Given the description of an element on the screen output the (x, y) to click on. 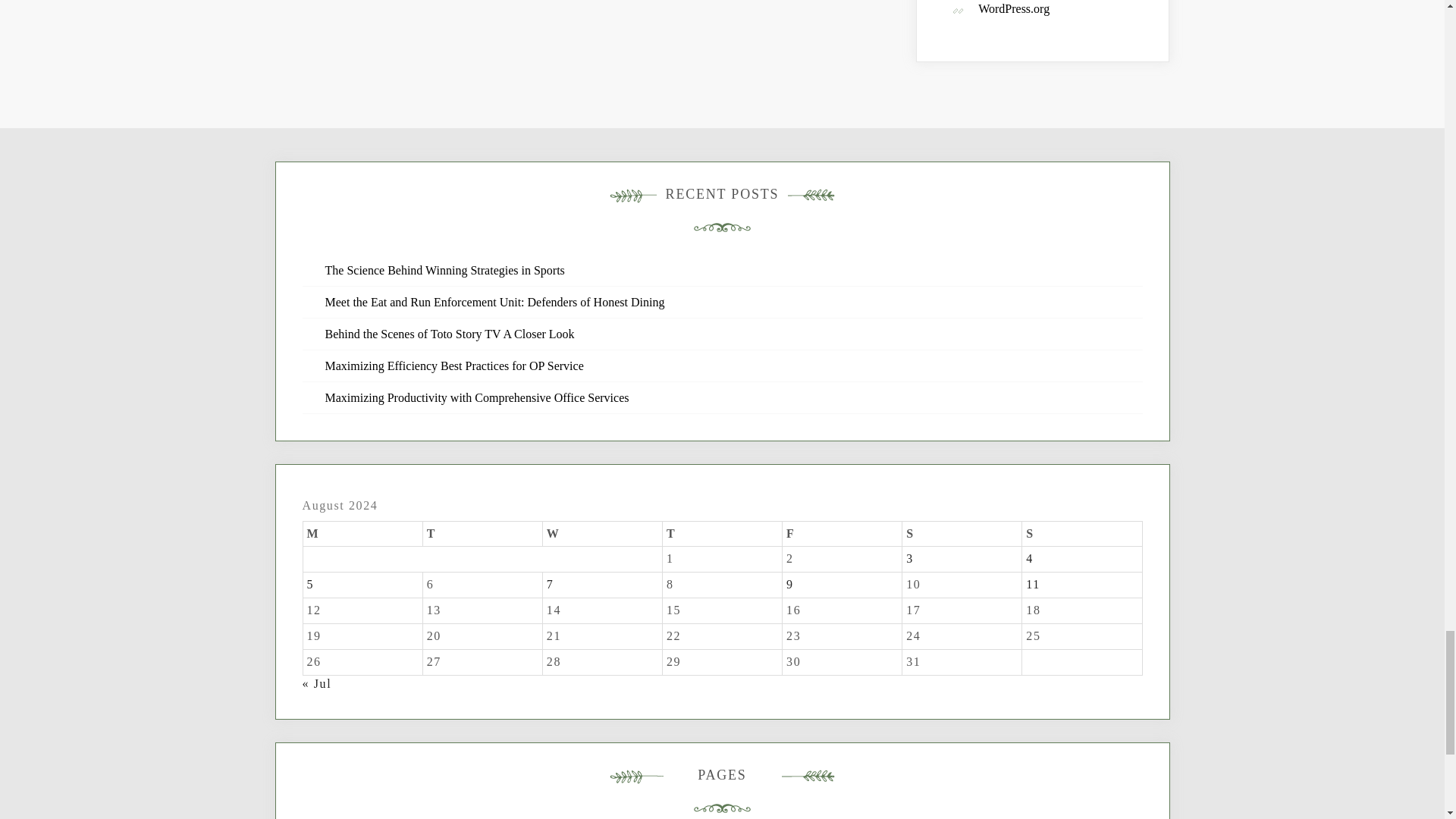
Sunday (1081, 533)
Saturday (962, 533)
Monday (362, 533)
Thursday (721, 533)
Wednesday (601, 533)
Friday (842, 533)
Tuesday (481, 533)
